Given the description of an element on the screen output the (x, y) to click on. 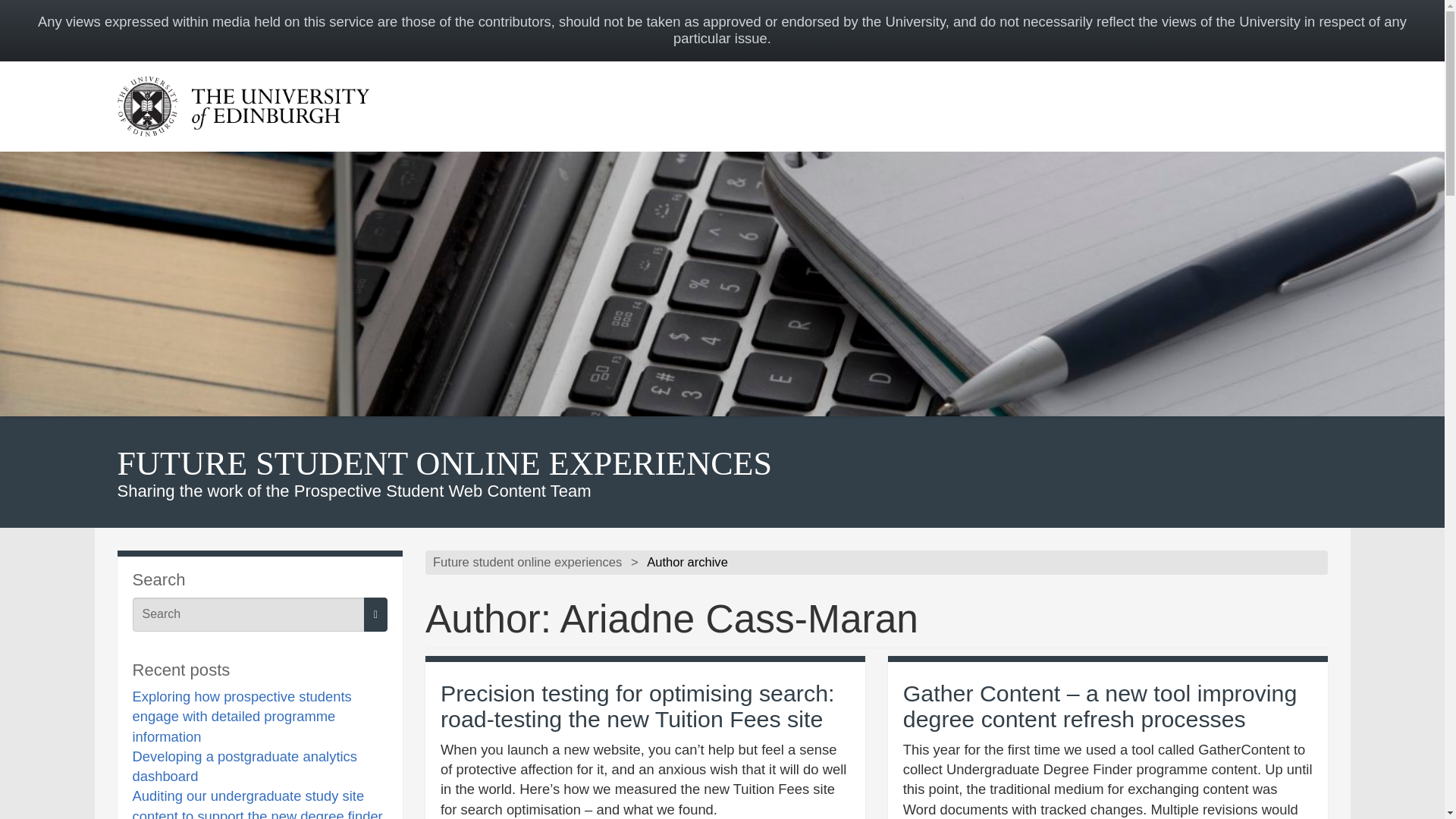
FUTURE STUDENT ONLINE EXPERIENCES (443, 463)
Developing a postgraduate analytics dashboard (244, 765)
Go to this blog's homepage. (526, 562)
